Given the description of an element on the screen output the (x, y) to click on. 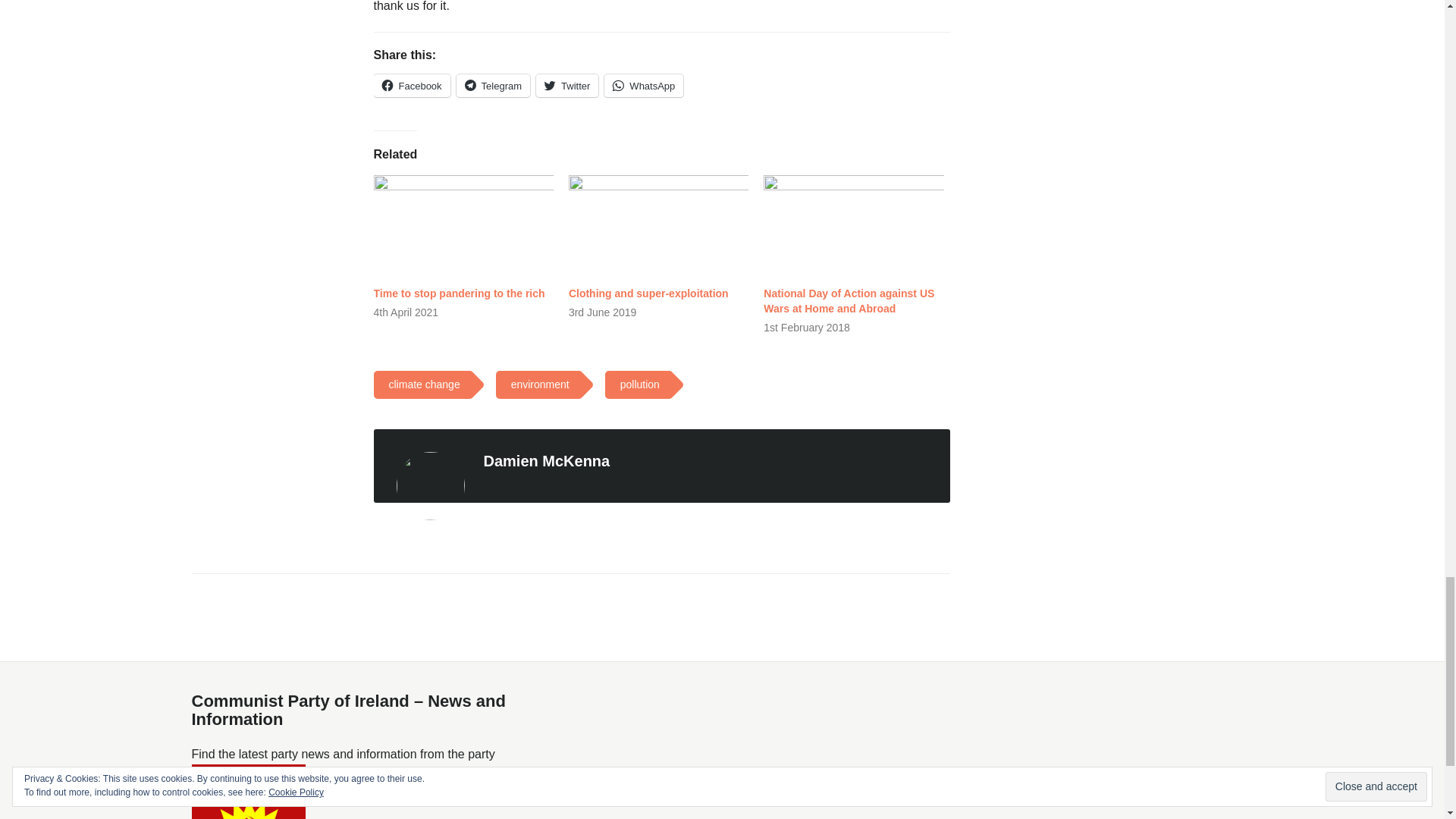
Time to stop pandering to the rich (462, 226)
Click to share on Telegram (493, 85)
Click to share on WhatsApp (643, 85)
Click to share on Facebook (410, 85)
Click to share on Twitter (566, 85)
Time to stop pandering to the rich (458, 293)
